Given the description of an element on the screen output the (x, y) to click on. 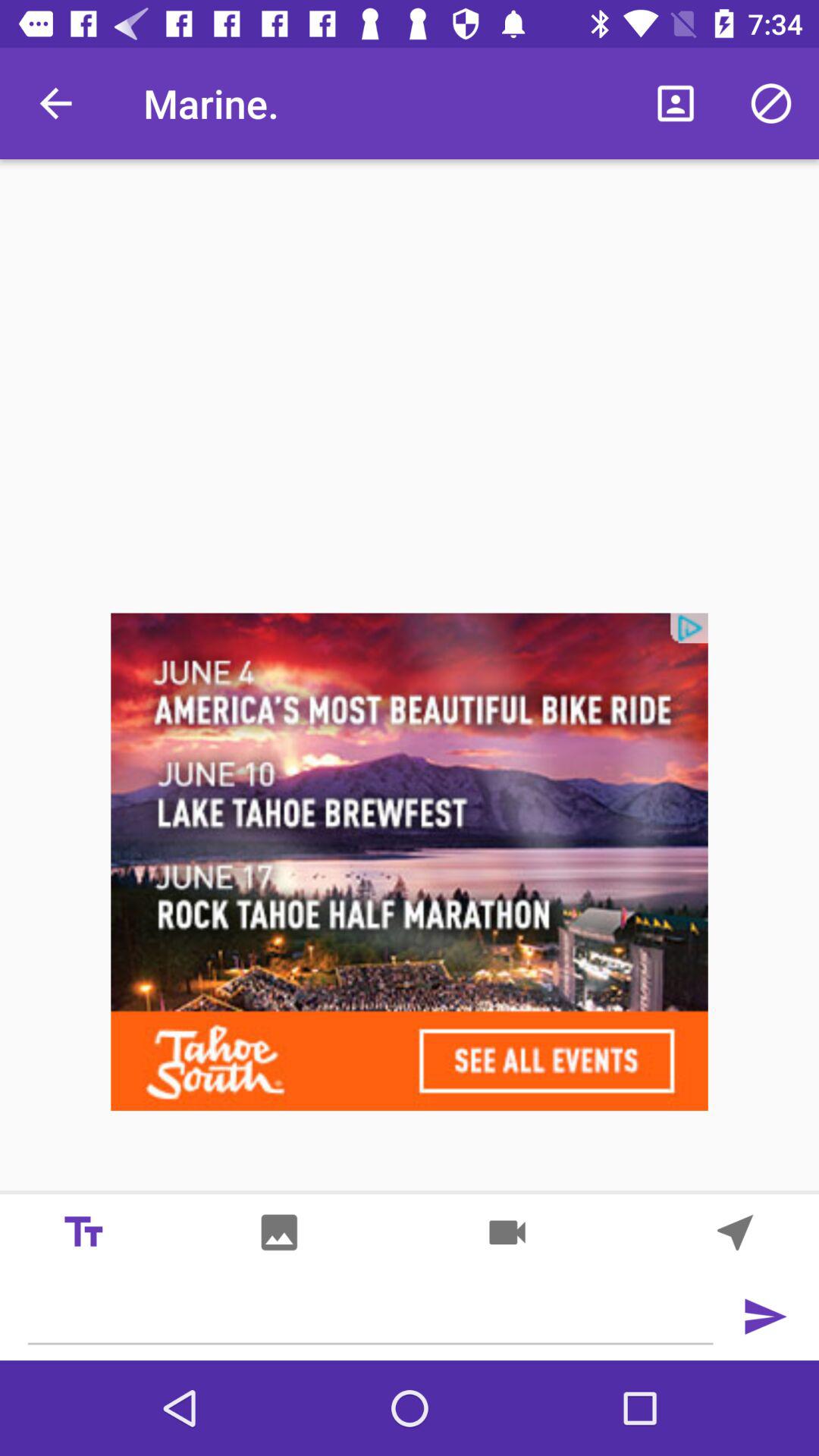
share (507, 1232)
